Given the description of an element on the screen output the (x, y) to click on. 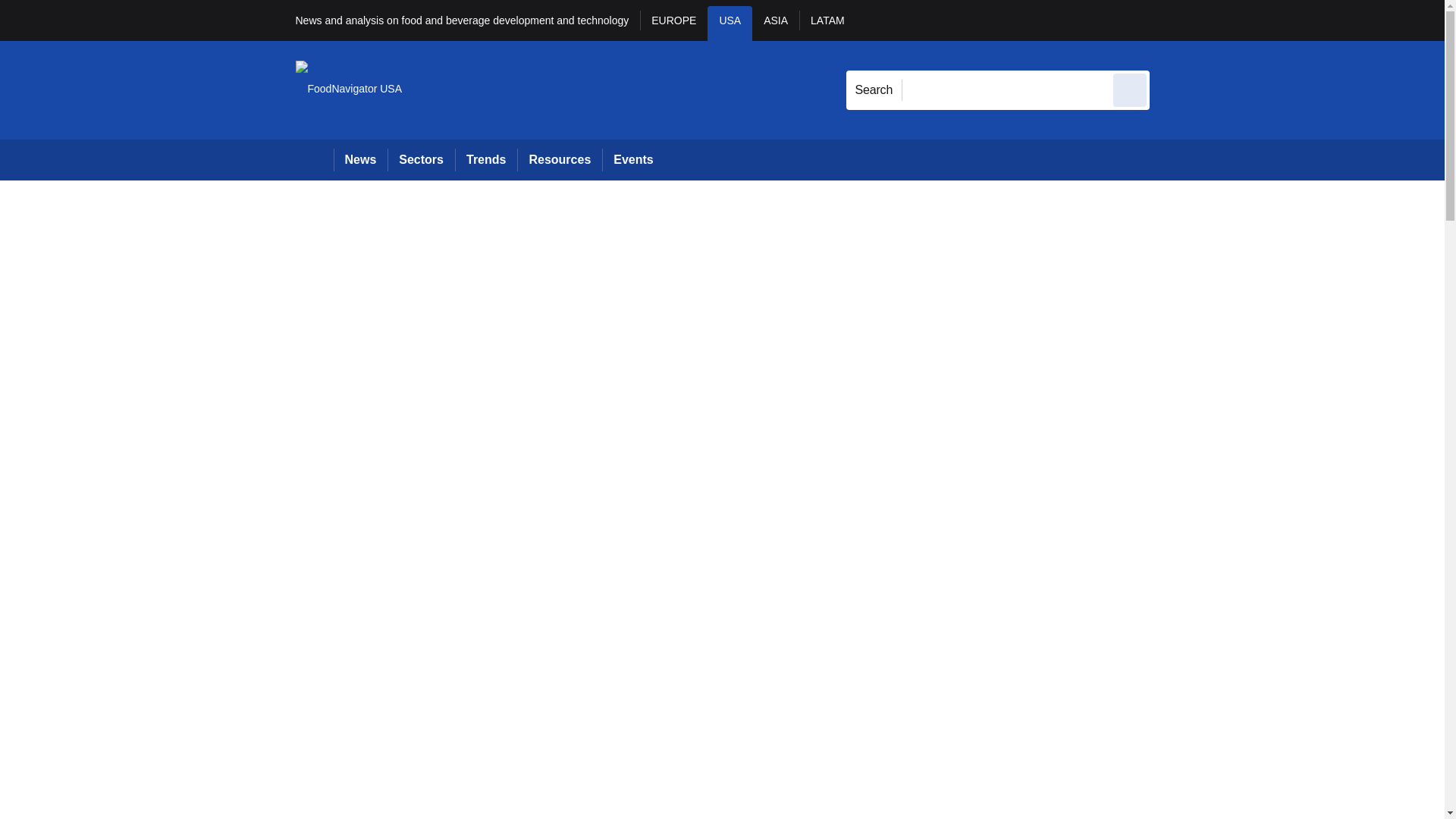
Sign out (1174, 20)
EUROPE (673, 22)
ASIA (775, 22)
FoodNavigator USA (349, 89)
REGISTER (1250, 20)
Home (313, 159)
Sectors (420, 159)
LATAM (827, 22)
Sign in (1171, 20)
News (360, 159)
